Given the description of an element on the screen output the (x, y) to click on. 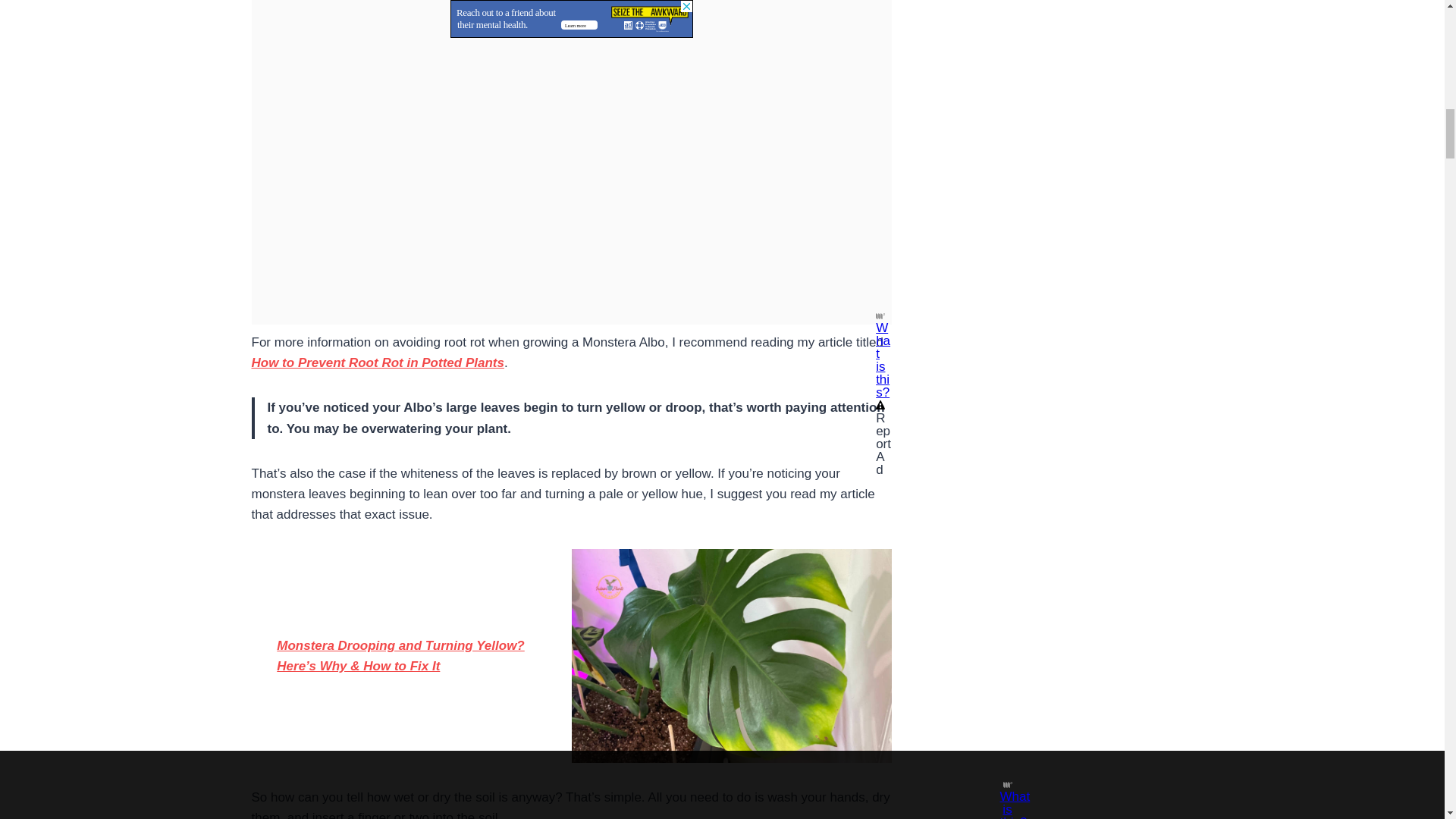
How to Prevent Root Rot in Potted Plants (377, 362)
3rd party ad content (571, 14)
